Given the description of an element on the screen output the (x, y) to click on. 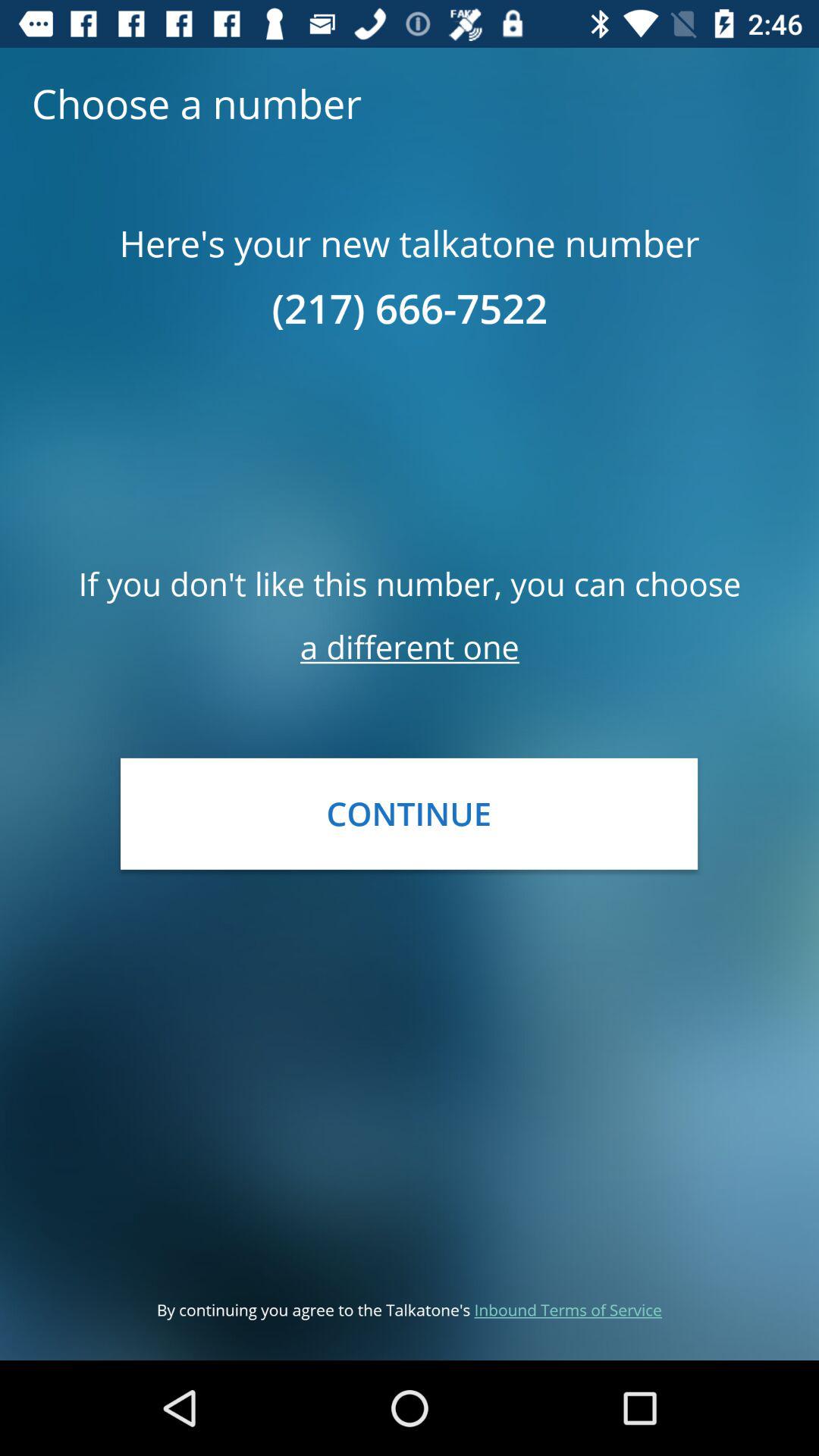
select item above continue item (409, 646)
